Given the description of an element on the screen output the (x, y) to click on. 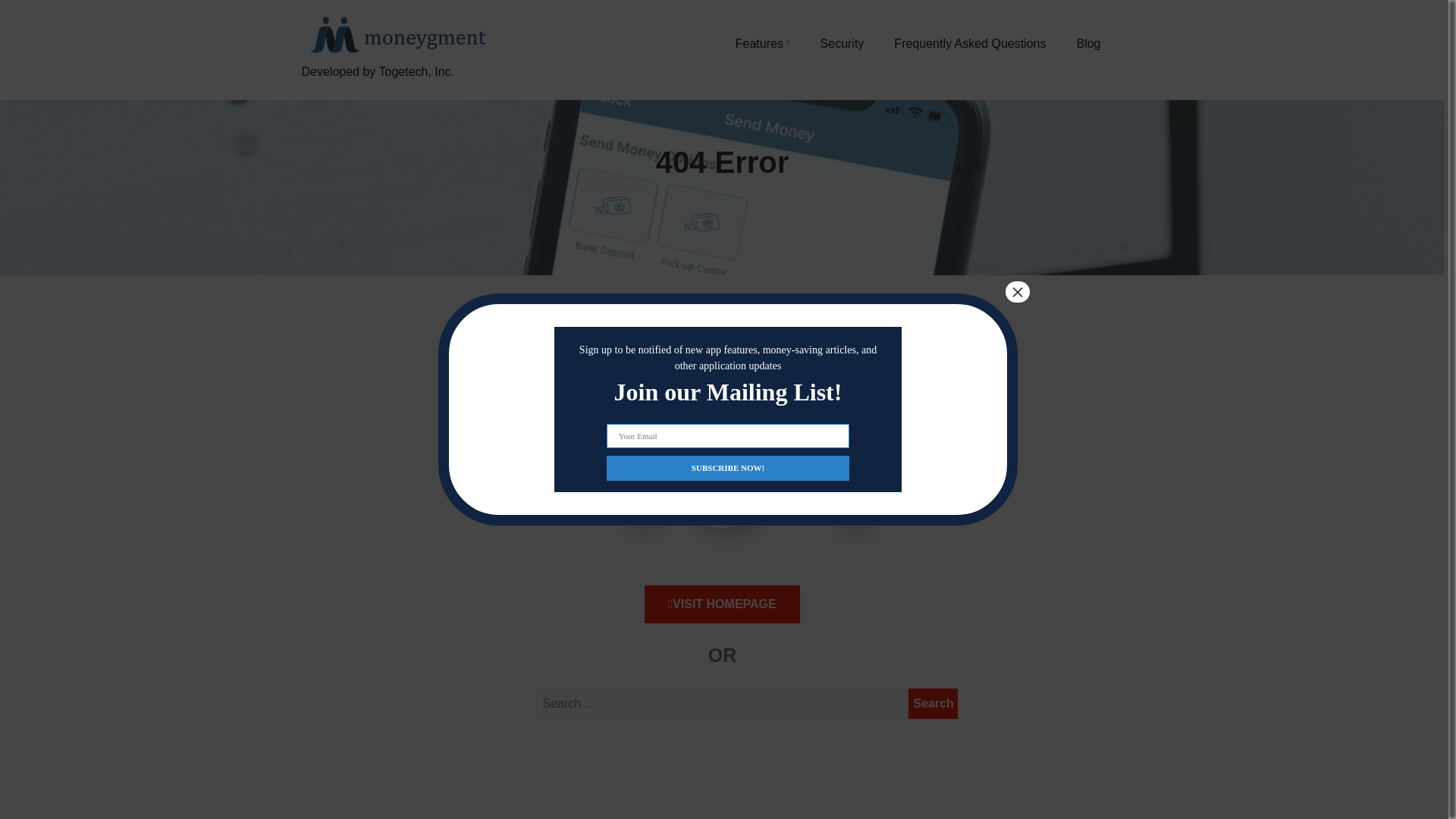
Frequently Asked Questions (969, 43)
Developed by Togetech, Inc. (396, 89)
Search (933, 703)
SUBSCRIBE NOW! (727, 467)
VISIT HOMEPAGE (722, 604)
Search (933, 703)
Security (842, 43)
Features (762, 43)
Search (933, 703)
